Given the description of an element on the screen output the (x, y) to click on. 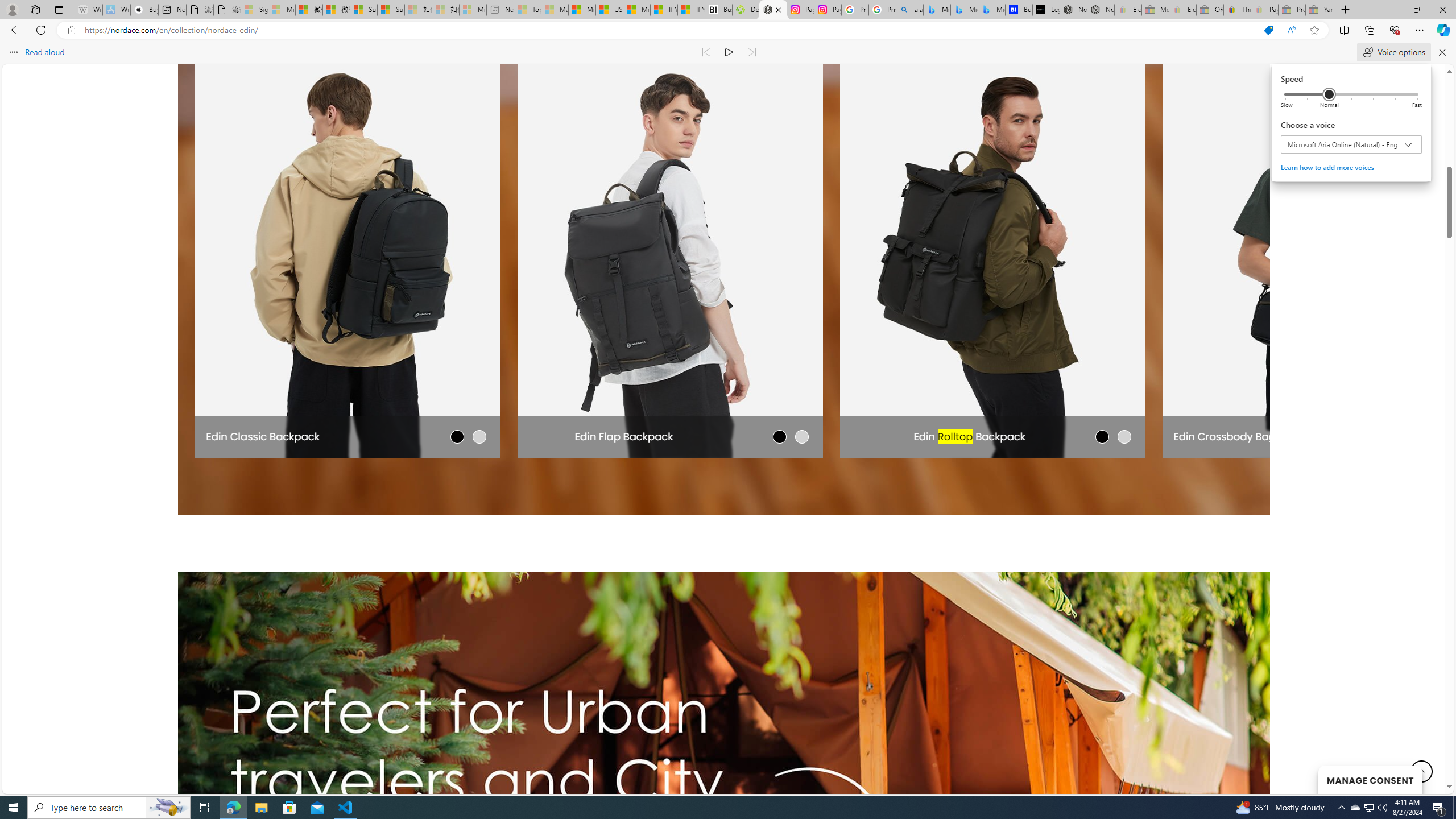
Notification Chevron (1341, 807)
Q2790: 100% (1382, 807)
Microsoft Services Agreement - Sleeping (281, 9)
Task View (204, 807)
Yard, Garden & Outdoor Living - Sleeping (1319, 9)
Black (456, 436)
Microsoft Bing Travel - Flights from Hong Kong to Bangkok (936, 9)
